Given the description of an element on the screen output the (x, y) to click on. 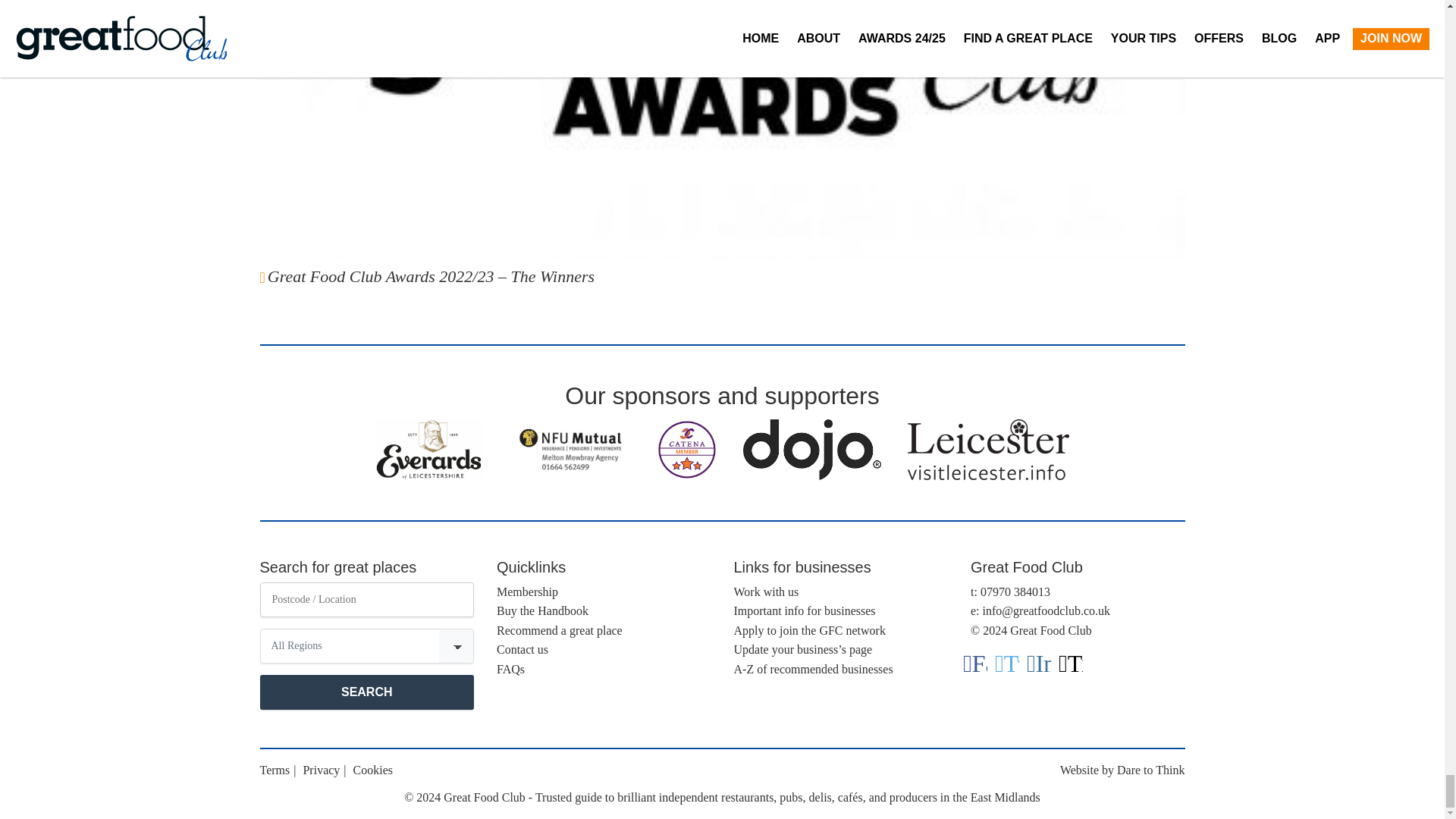
Search (366, 692)
